Given the description of an element on the screen output the (x, y) to click on. 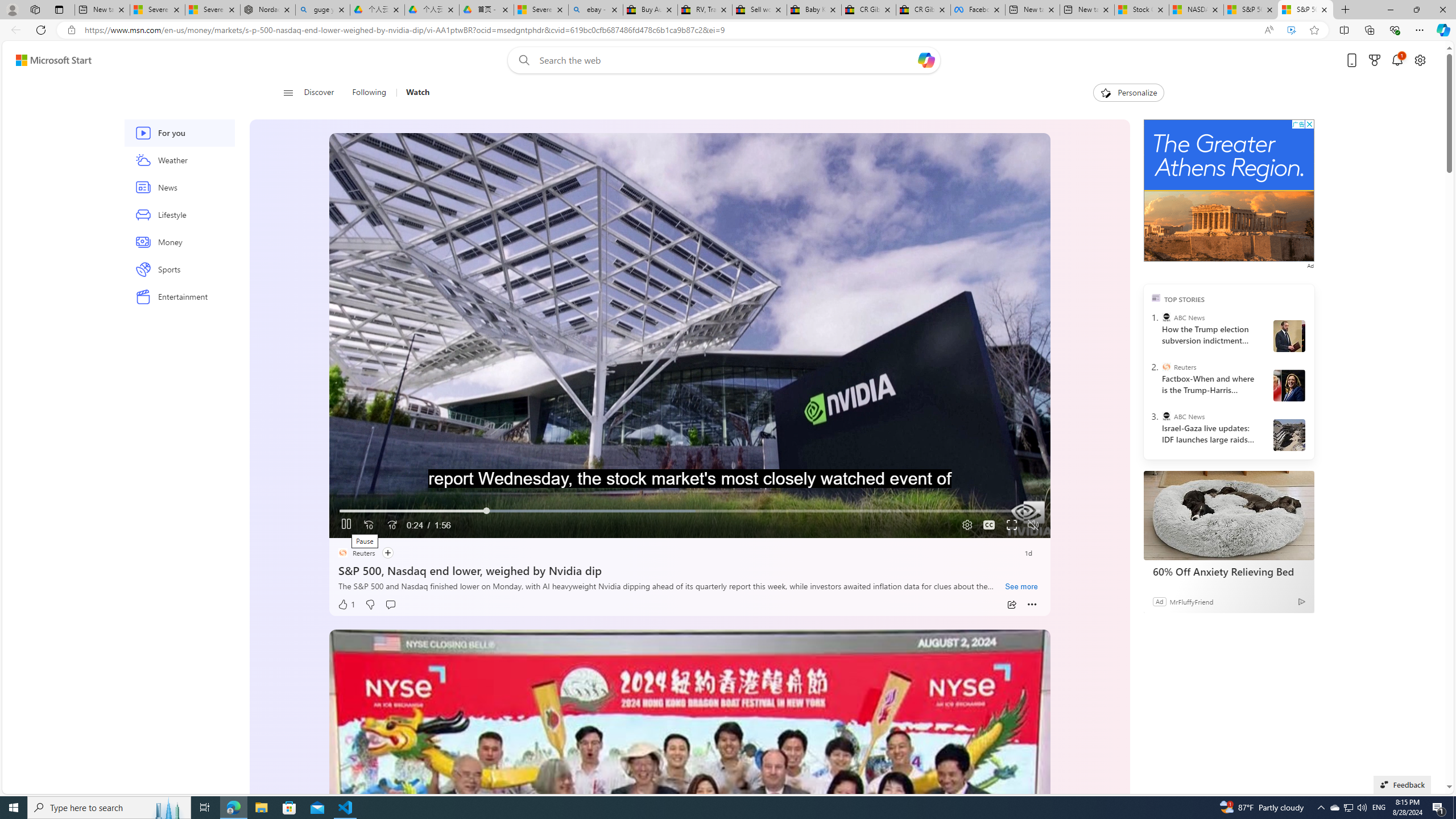
placeholder Reuters (355, 552)
Pause (346, 525)
Seek Back (368, 525)
Quality Settings (964, 525)
Open settings (1420, 60)
Share (1010, 604)
More (1031, 604)
Follow (387, 553)
